Given the description of an element on the screen output the (x, y) to click on. 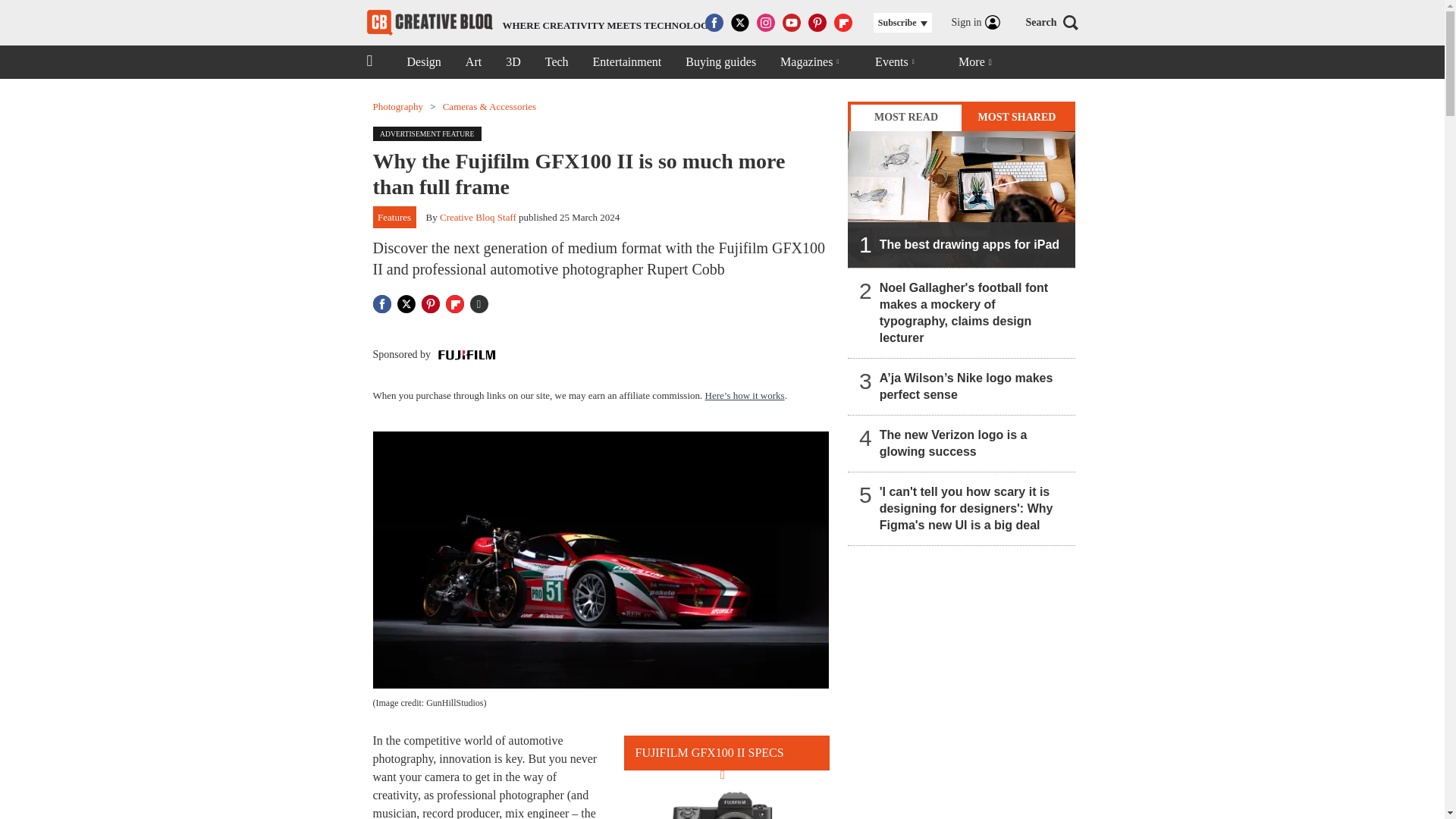
Creative Bloq Staff (477, 216)
3D (512, 61)
Design (423, 61)
The best drawing apps for iPad  (961, 199)
ADVERTISEMENT FEATURE (430, 132)
Creative Bloq (429, 22)
Photography (397, 106)
Entertainment (627, 61)
Features (394, 217)
Art (472, 61)
